Given the description of an element on the screen output the (x, y) to click on. 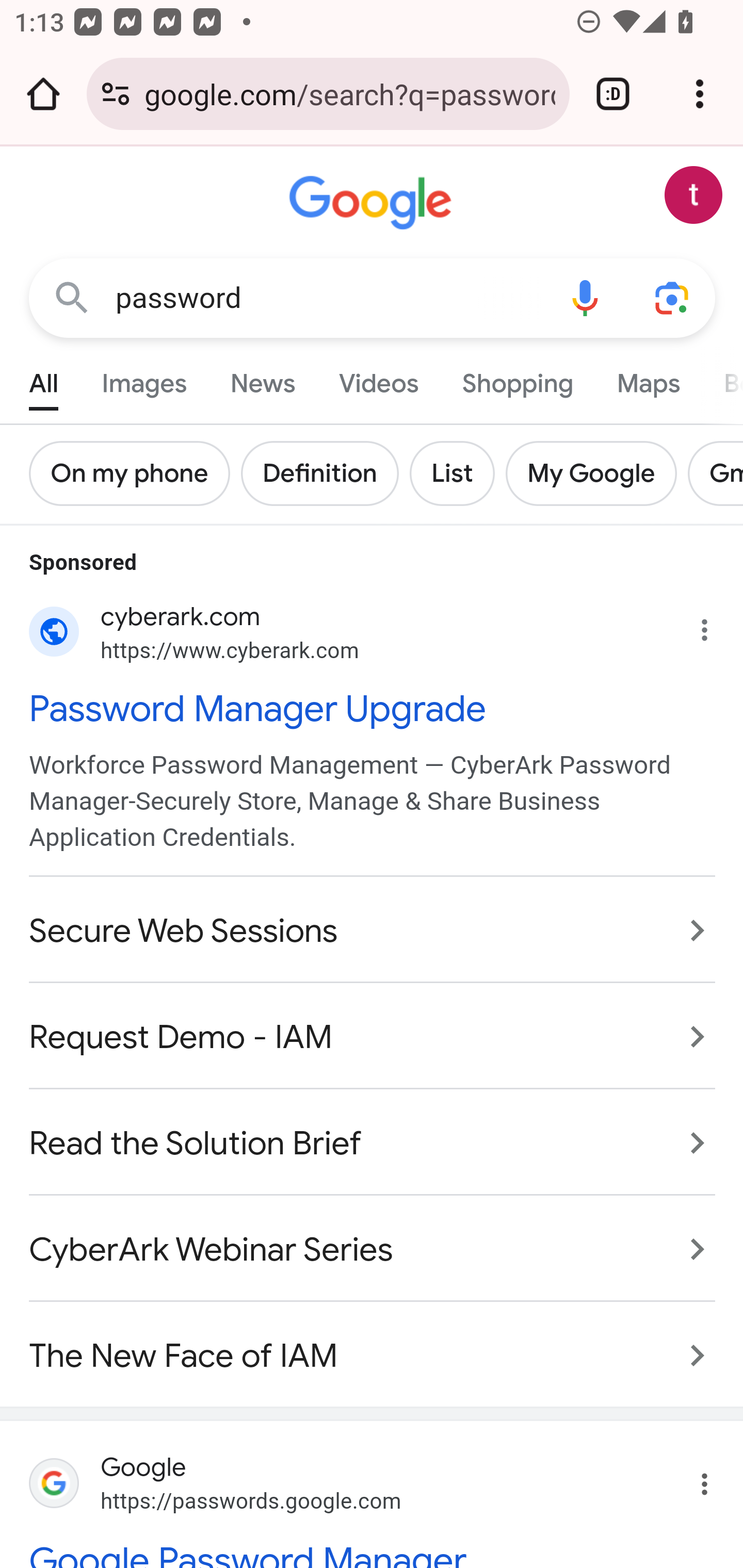
Open the home page (43, 93)
Connection is secure (115, 93)
Switch or close tabs (612, 93)
Customize and control Google Chrome (699, 93)
Google (372, 203)
Google Search (71, 296)
Search using your camera or photos (672, 296)
password (328, 297)
Images (144, 378)
News (262, 378)
Videos (378, 378)
Shopping (516, 378)
Maps (647, 378)
Add On my phone On my phone (135, 473)
Add Definition Definition (324, 473)
Add List List (456, 473)
Add My Google My Google (596, 473)
Why this ad? (714, 625)
Password Manager Upgrade (372, 707)
Secure Web Sessions (372, 930)
Request Demo - IAM (372, 1036)
Read the Solution Brief (372, 1142)
CyberArk Webinar Series (372, 1249)
The New Face of IAM (372, 1345)
